Given the description of an element on the screen output the (x, y) to click on. 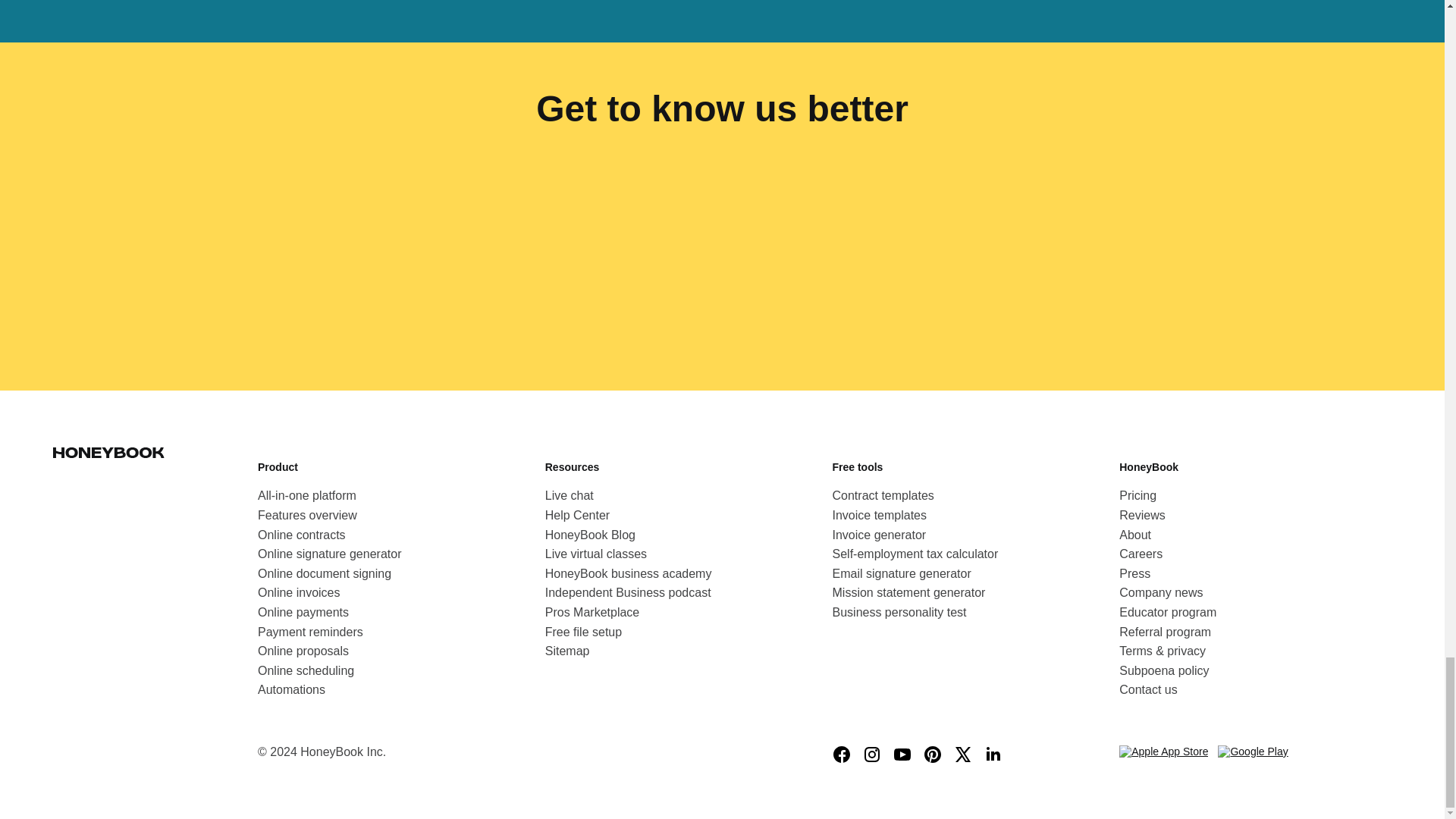
Pros Marketplace (592, 612)
Online scheduling (305, 670)
Invoice generator (879, 535)
Invoice templates (879, 515)
Help Center (577, 515)
Business personality test (899, 612)
HoneyBook business academy (627, 573)
Mission statement generator (908, 592)
Independent Business podcast (627, 592)
Features overview (306, 515)
